Given the description of an element on the screen output the (x, y) to click on. 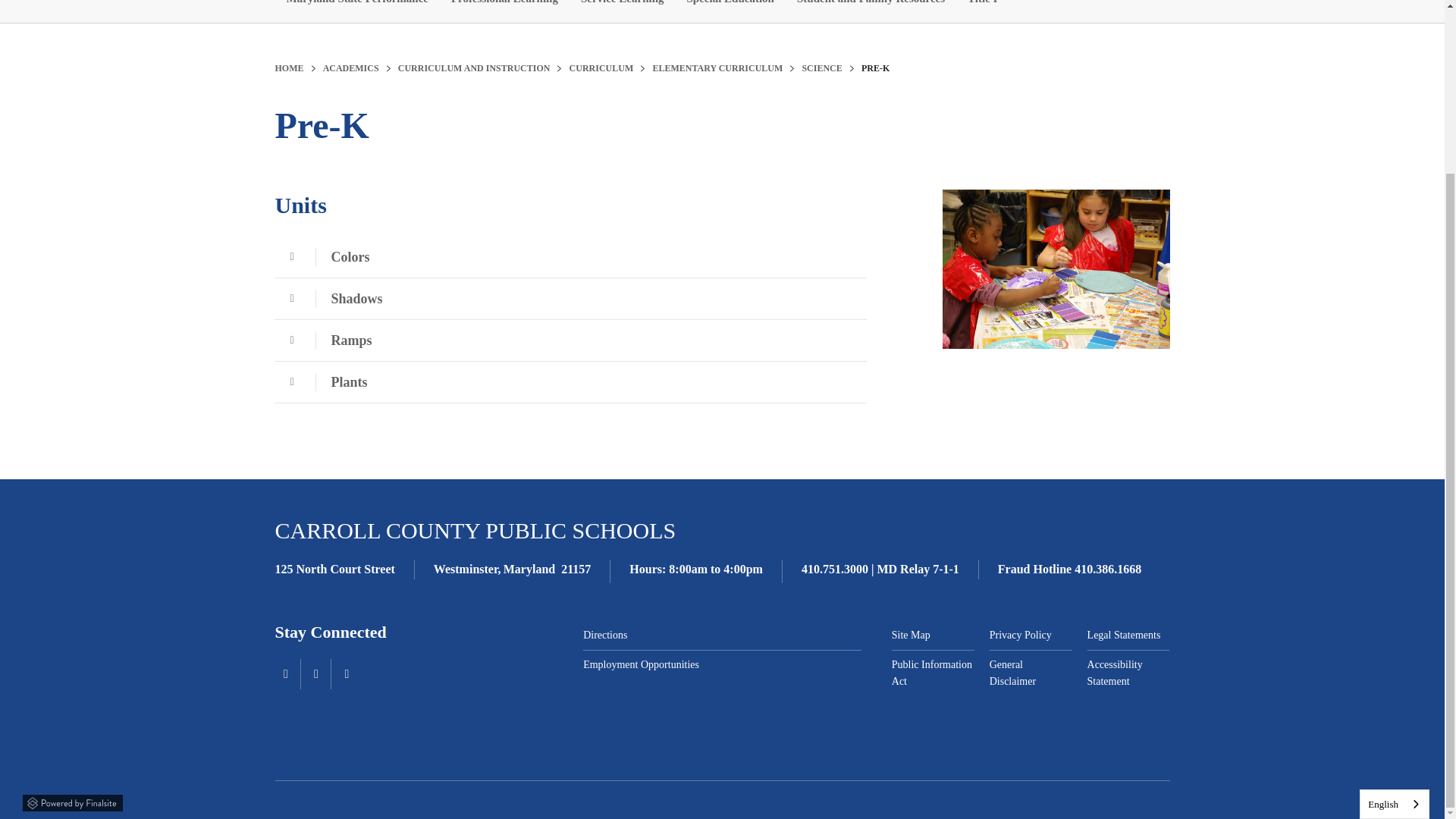
Powered by Finalsite opens in a new window (72, 800)
